Given the description of an element on the screen output the (x, y) to click on. 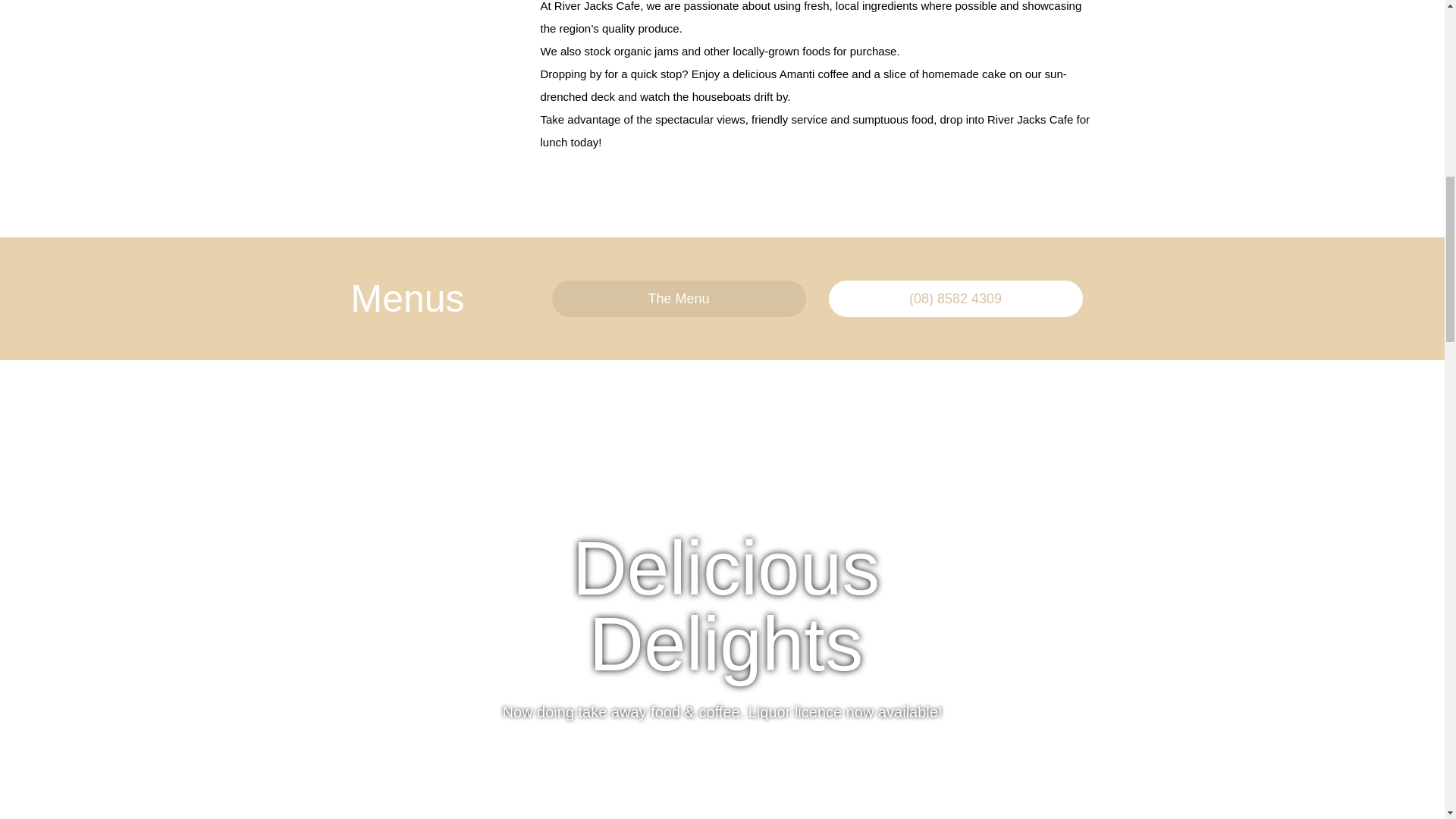
The Menu (678, 298)
